Given the description of an element on the screen output the (x, y) to click on. 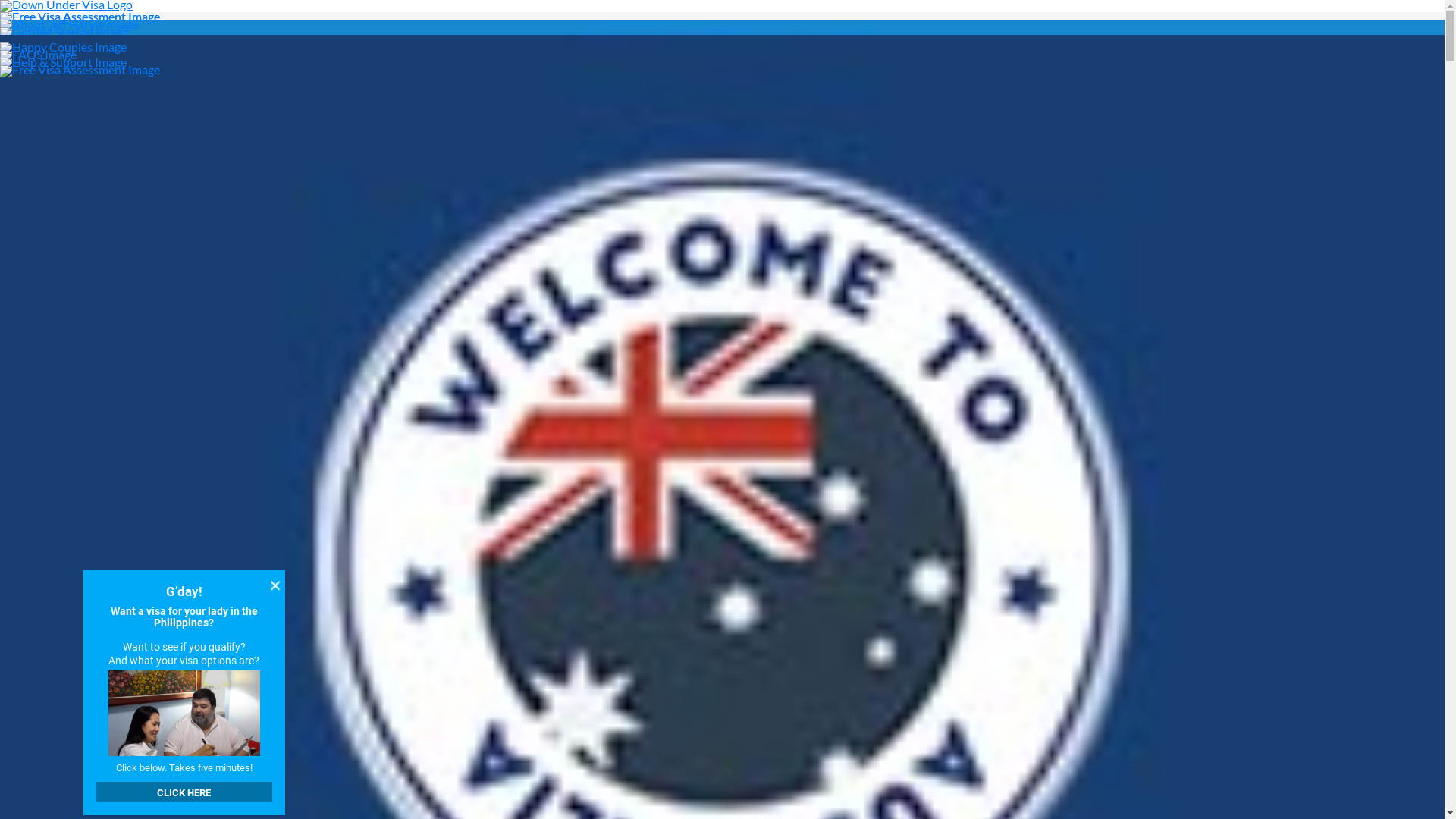
Visa Types Element type: hover (722, 38)
FAQ Element type: hover (722, 53)
A friendly family-run practice Element type: text (406, 565)
Getting Started Element type: hover (722, 30)
FREE VISA ASSESSMENT FORM Element type: text (439, 782)
Who Is Jreff Harvie Element type: hover (722, 23)
Our office and staff are here in Manila, Philippines Element type: text (459, 624)
Free Visa Assessment - Philippines Element type: hover (722, 15)
Free Visa Assessment - Philippines Element type: hover (722, 68)
onshore Element type: text (334, 533)
Visa Questions Element type: hover (20, 176)
Happy Couples Element type: hover (722, 46)
Help & Support Element type: hover (722, 61)
Fiancee Visa (Prospective Marriage Visas, or Fiance Visas) Element type: text (719, 501)
CLICK HERE Element type: text (183, 791)
Tourist Visas  Element type: text (561, 512)
